Given the description of an element on the screen output the (x, y) to click on. 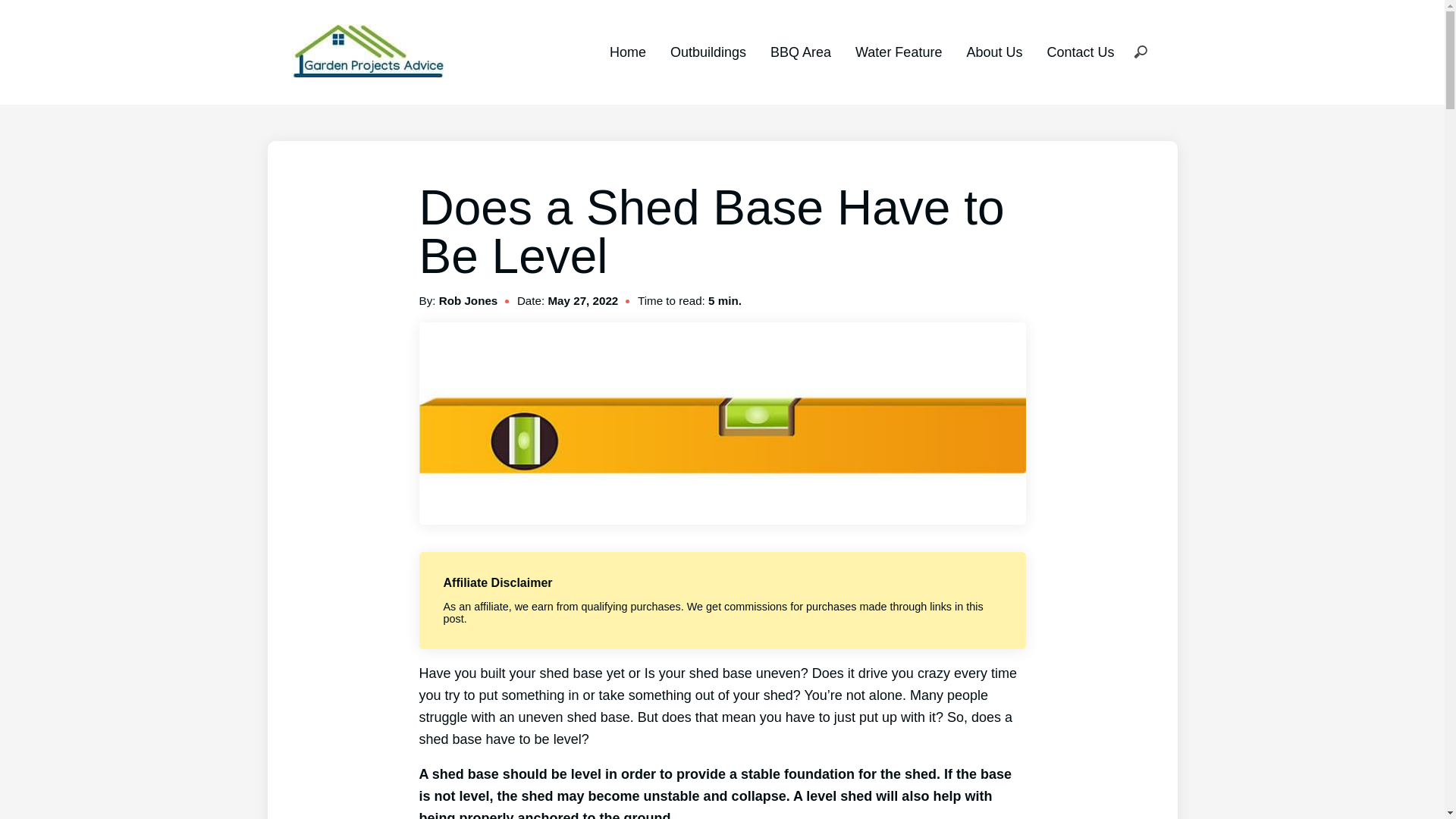
Home (628, 51)
About Us (994, 51)
Contact Us (1079, 51)
BBQ Area (800, 51)
Outbuildings (707, 51)
Search for: (1139, 52)
Water Feature (899, 51)
